Given the description of an element on the screen output the (x, y) to click on. 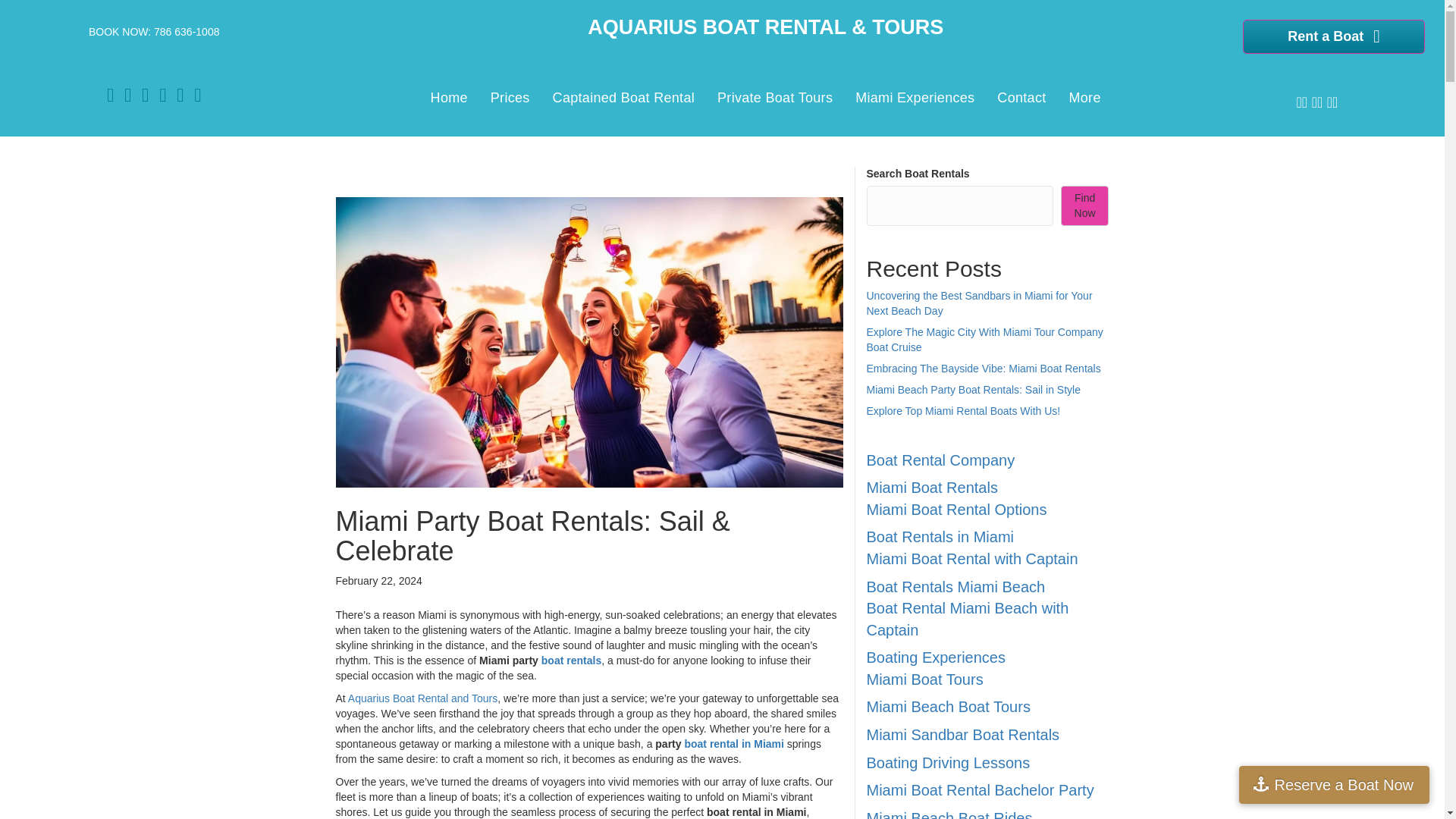
Private Boat Tours (775, 97)
Aquarius Boat Rental and Tours (422, 698)
boat rentals (571, 660)
BOOK NOW: 786 636-1008 (153, 31)
Home (449, 97)
Captained Boat Rental (622, 97)
Prices (510, 97)
Miami Experiences (914, 97)
Reserve a Boat Now (1334, 784)
boat rental in Miami (733, 743)
Contact (1021, 97)
